Given the description of an element on the screen output the (x, y) to click on. 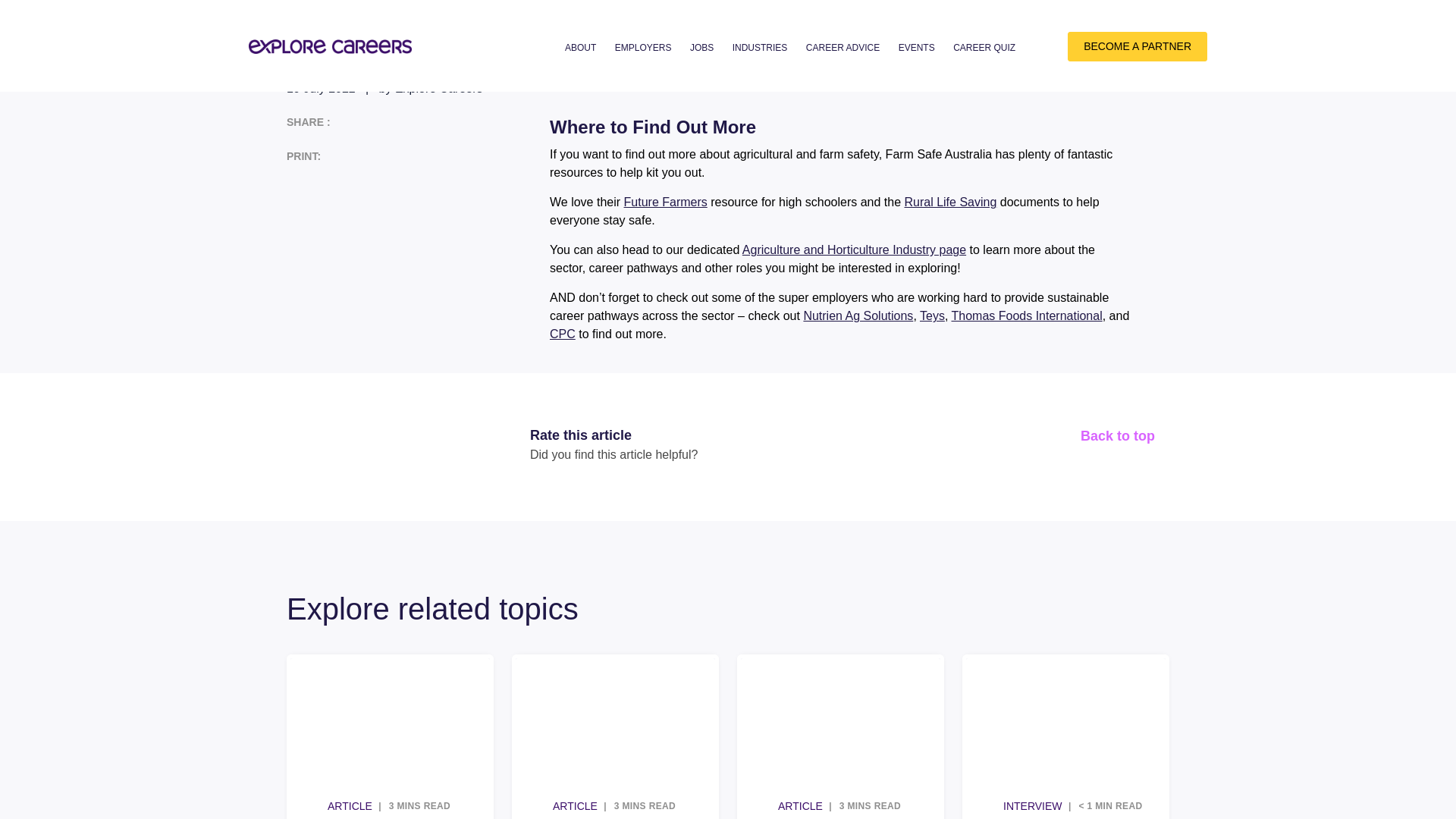
Rural Life Saving (938, 201)
Find Out Why Apprentices are No.1 With Bridgestone (1054, 738)
Agriculture and Horticulture Industry page (842, 249)
Future Farmers (653, 201)
Ready Player One: Dara from Experian on AI in the Workplace (379, 738)
